Given the description of an element on the screen output the (x, y) to click on. 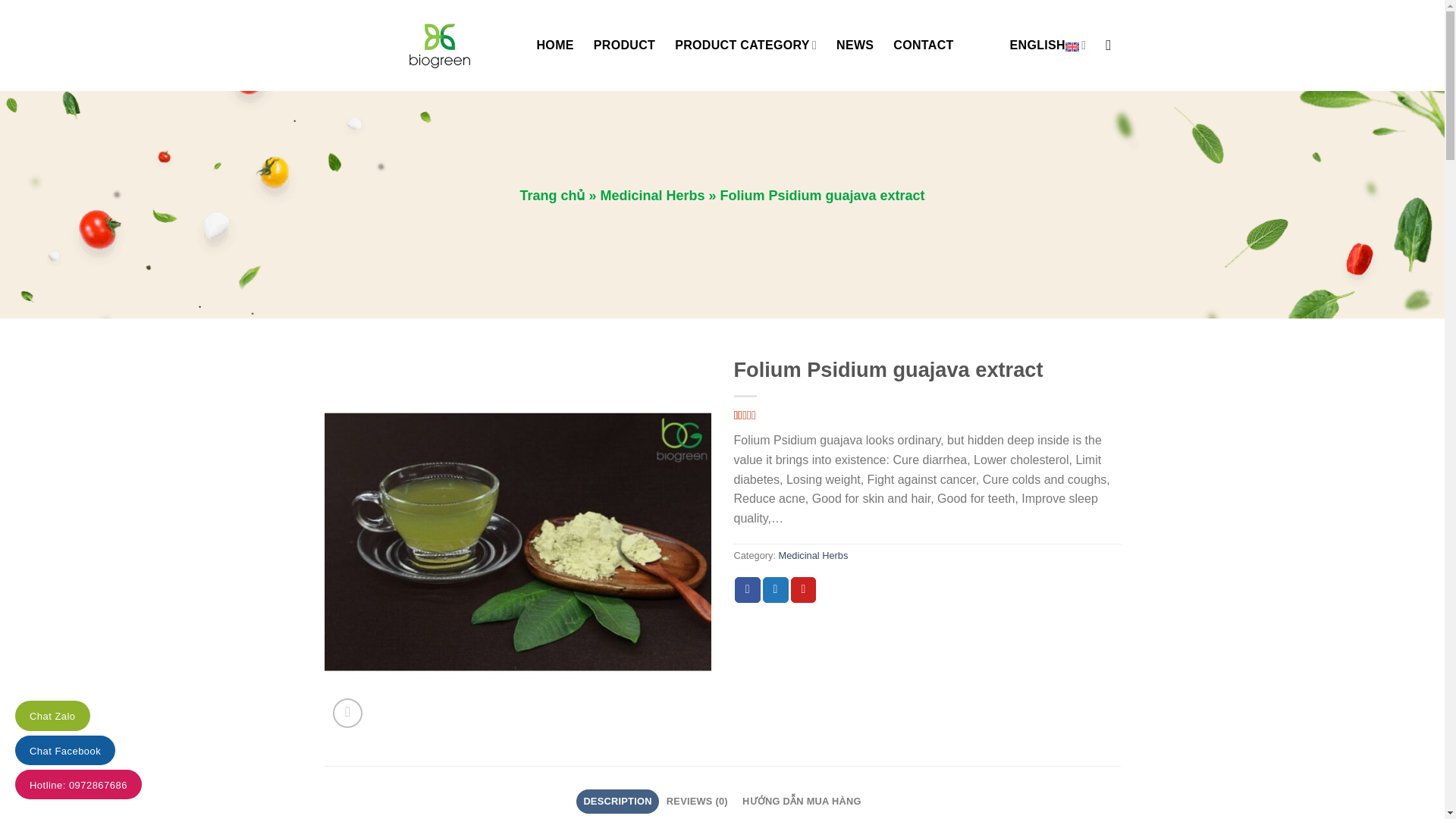
Biogreenjsc.com.vn - Biogreenjsc.com.vn (418, 44)
Zoom (347, 713)
PRODUCT (624, 44)
HOME (555, 44)
CONTACT (923, 44)
PRODUCT CATEGORY (745, 44)
Pin on Pinterest (803, 589)
Share on Twitter (775, 589)
ENGLISH (1048, 44)
